Given the description of an element on the screen output the (x, y) to click on. 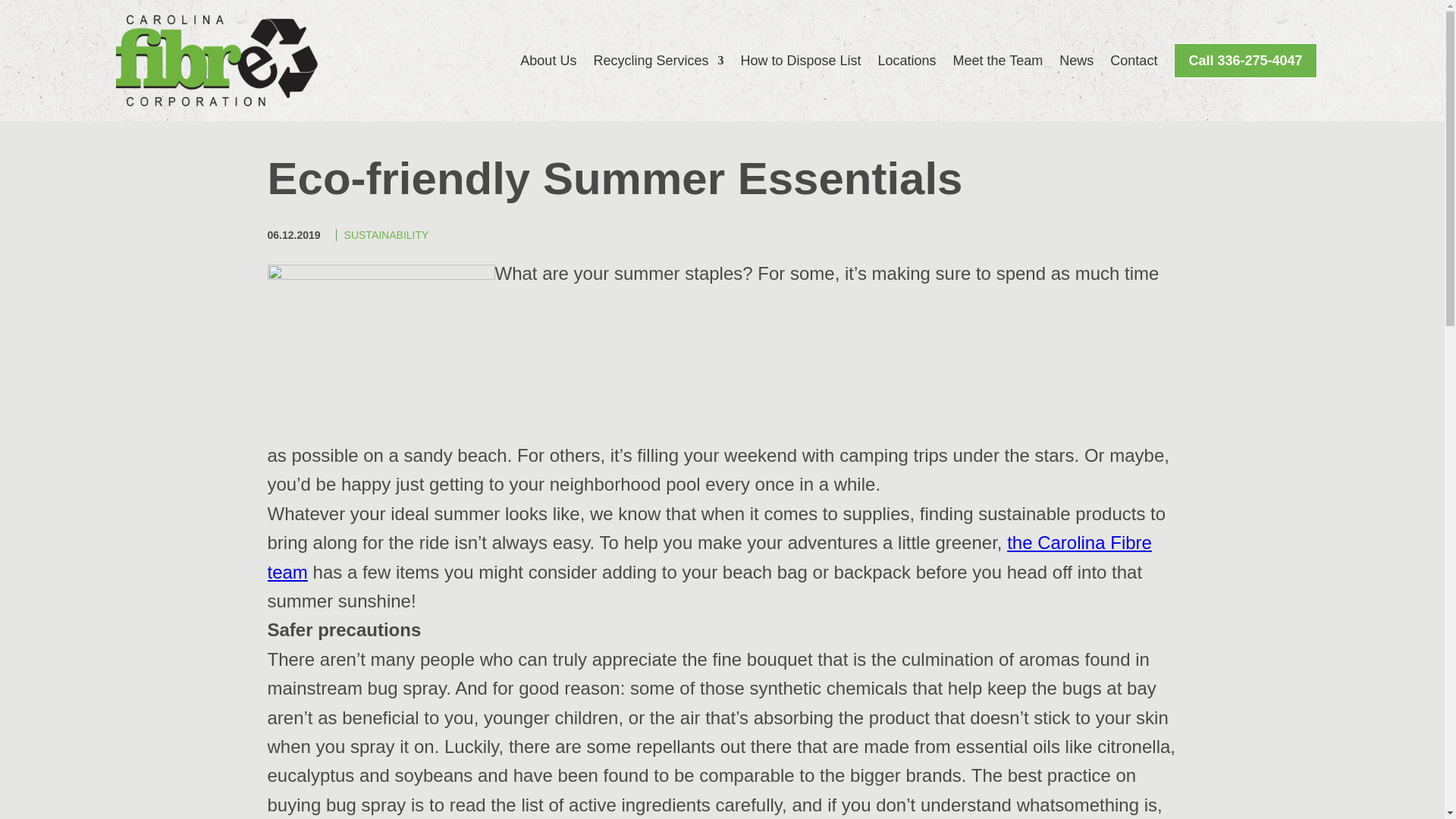
the Carolina Fibre team (708, 556)
SUSTAINABILITY (386, 234)
Meet the Team (998, 60)
Call 336-275-4047 (1244, 59)
Locations (906, 60)
About Us (547, 60)
Recycling Services (657, 60)
How to Dispose List (799, 60)
